Given the description of an element on the screen output the (x, y) to click on. 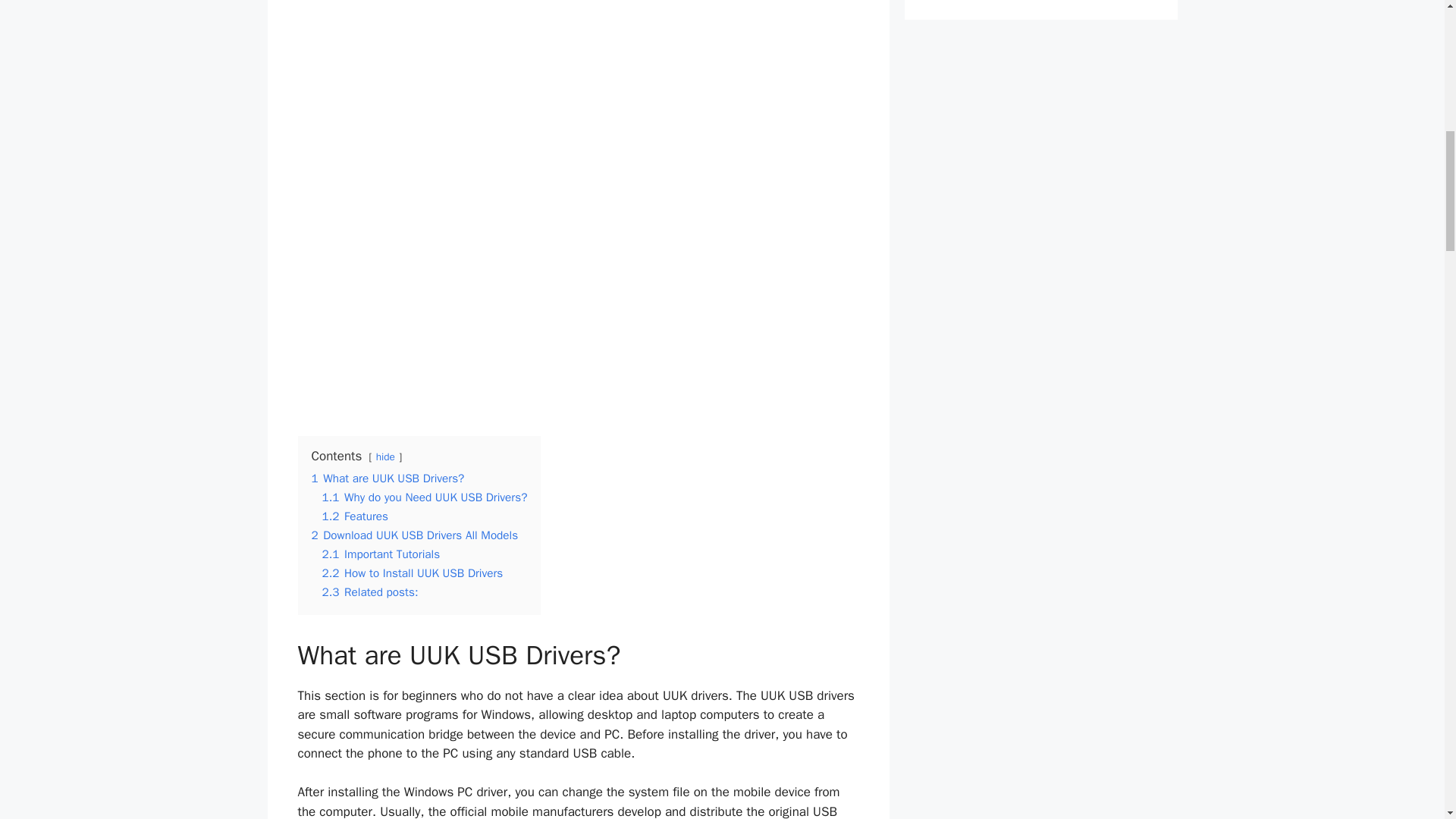
2.1 Important Tutorials (380, 554)
2 Download UUK USB Drivers All Models (414, 534)
1 What are UUK USB Drivers? (387, 478)
2.2 How to Install UUK USB Drivers (411, 572)
2.3 Related posts: (369, 591)
1.1 Why do you Need UUK USB Drivers? (424, 497)
hide (384, 456)
1.2 Features (354, 516)
